Given the description of an element on the screen output the (x, y) to click on. 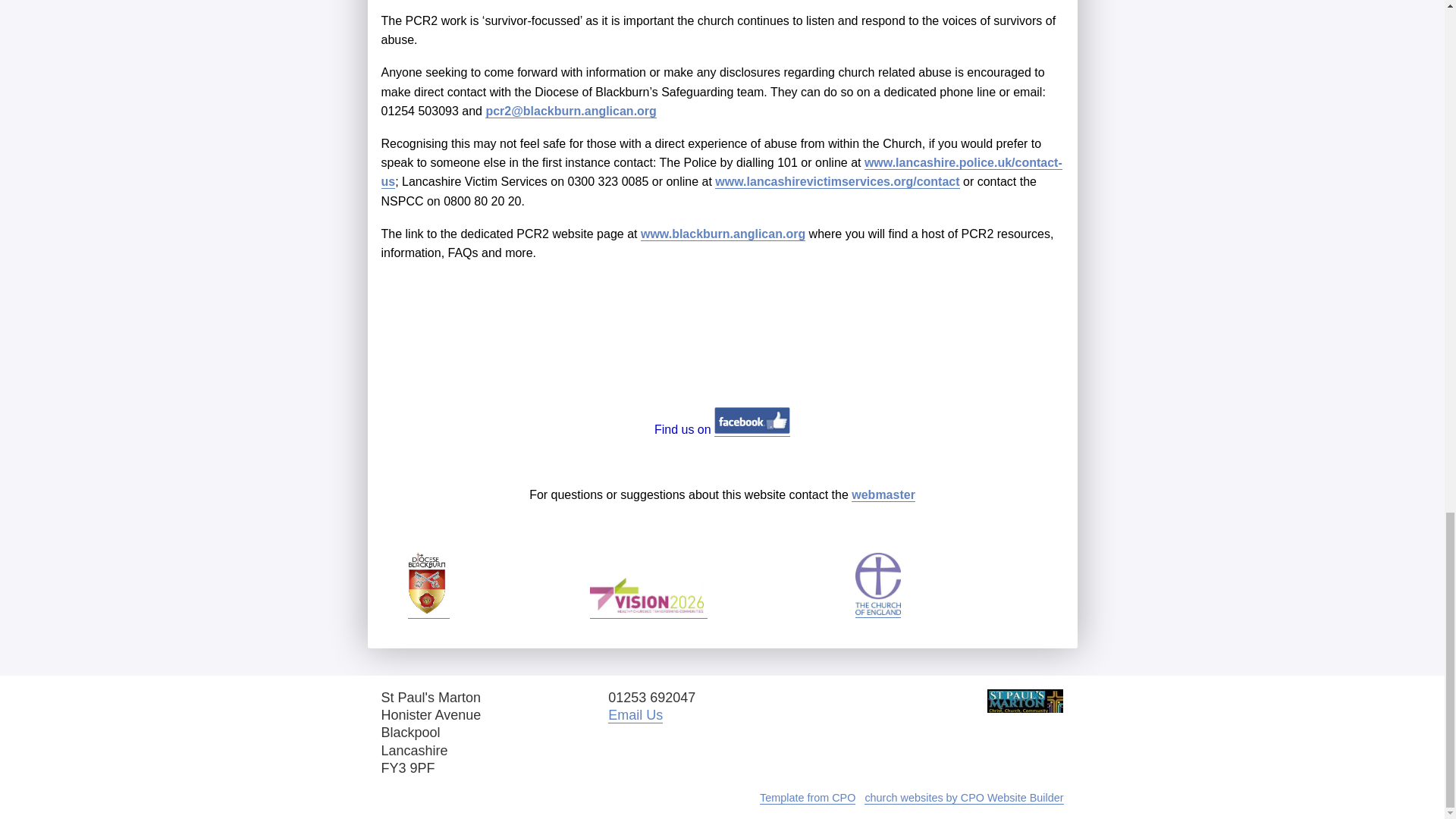
Facebook (752, 420)
Vision 2026 logo.jpg (646, 596)
Template from CPO (808, 797)
Email Us (635, 715)
church websites by CPO Website Builder (963, 797)
www.blackburn.anglican.org (722, 233)
webmaster (883, 495)
